Given the description of an element on the screen output the (x, y) to click on. 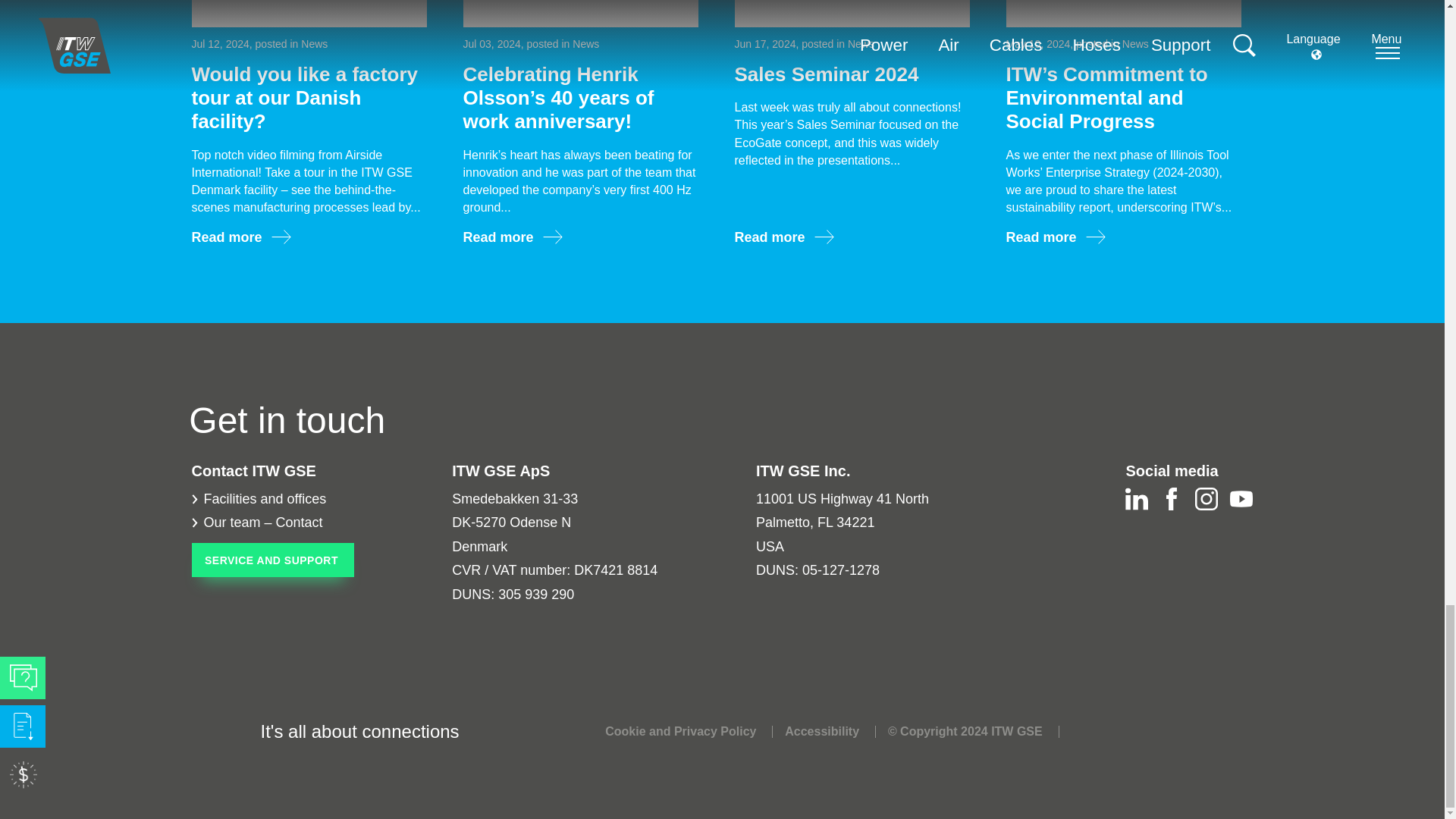
ITW GSE - It's all about connections (218, 732)
IATA (1104, 731)
